Given the description of an element on the screen output the (x, y) to click on. 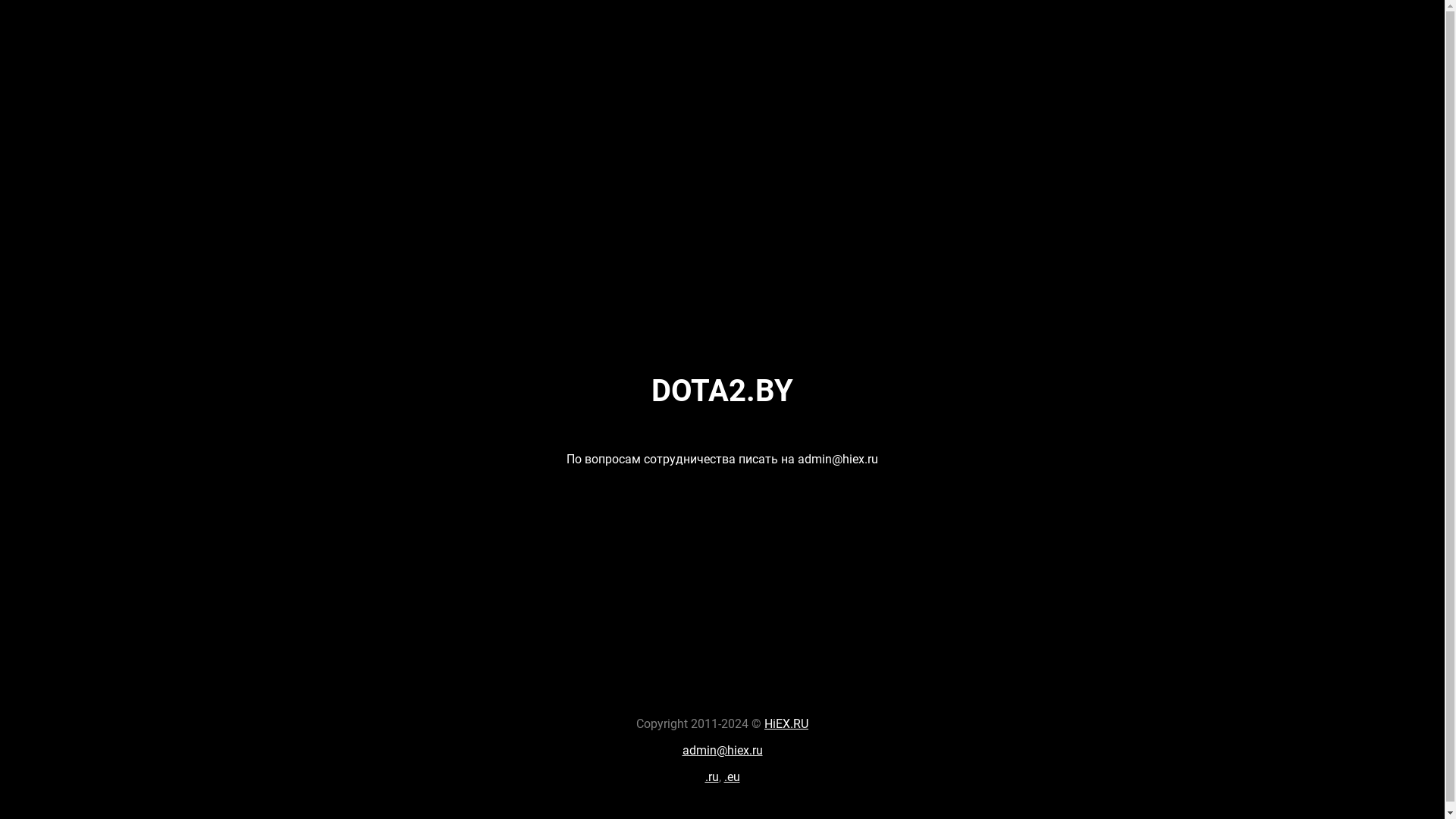
HiEX.RU Element type: text (786, 723)
.ru Element type: text (711, 776)
.eu Element type: text (731, 776)
admin@hiex.ru Element type: text (722, 750)
